Given the description of an element on the screen output the (x, y) to click on. 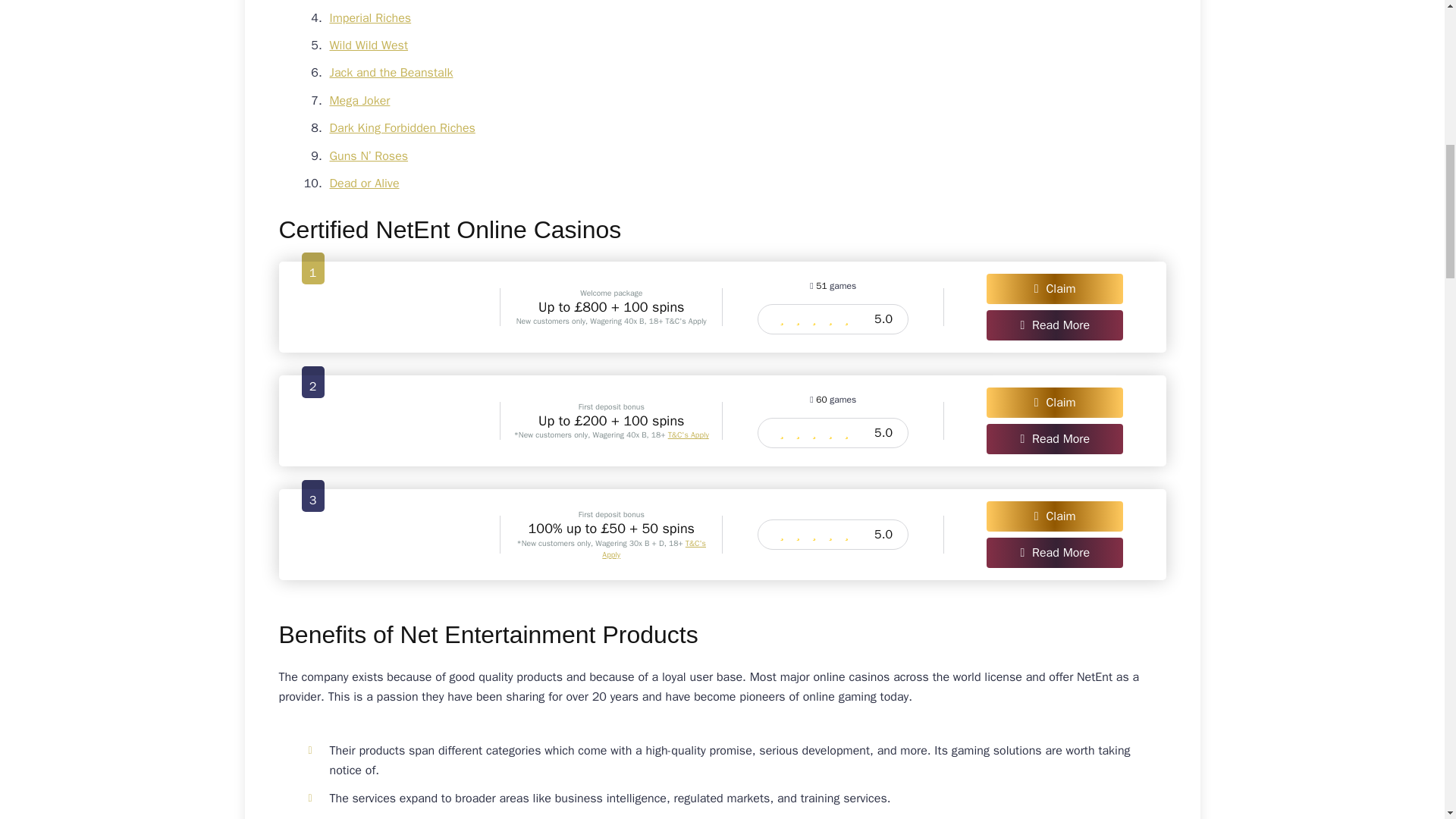
Claim (1054, 516)
Read More (1054, 552)
Casiplay (389, 305)
Read More (1054, 439)
Mr. Play (389, 419)
Claim (1054, 288)
Swift Casino (389, 533)
Read More (1054, 325)
Claim (1054, 402)
